Given the description of an element on the screen output the (x, y) to click on. 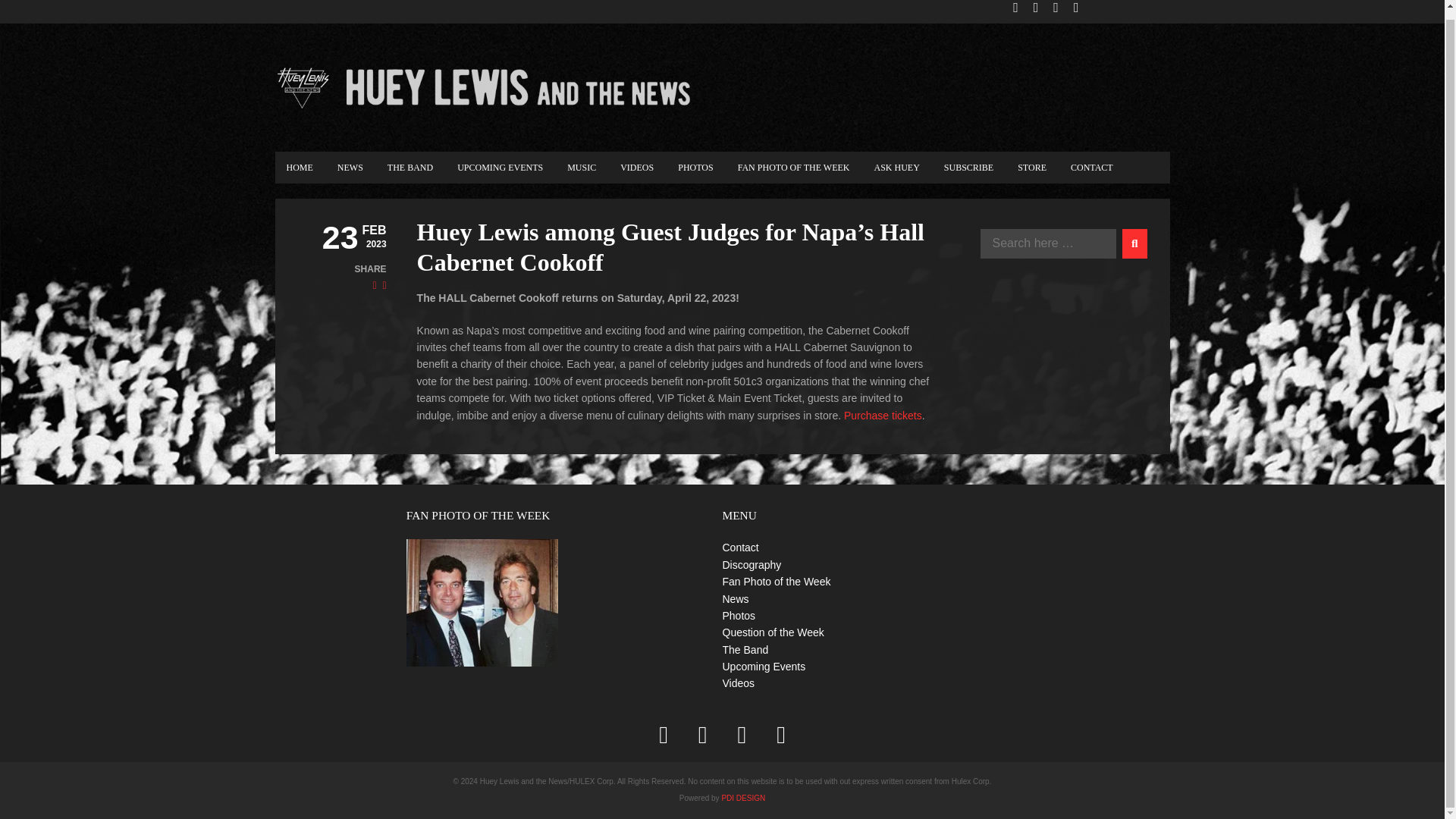
STORE (1032, 167)
PHOTOS (694, 167)
MUSIC (581, 167)
Contact (740, 547)
Fan Photo of the Week (481, 602)
News (735, 598)
UPCOMING EVENTS (499, 167)
CONTACT (1091, 167)
ASK HUEY (895, 167)
SUBSCRIBE (968, 167)
Discography (751, 564)
